Given the description of an element on the screen output the (x, y) to click on. 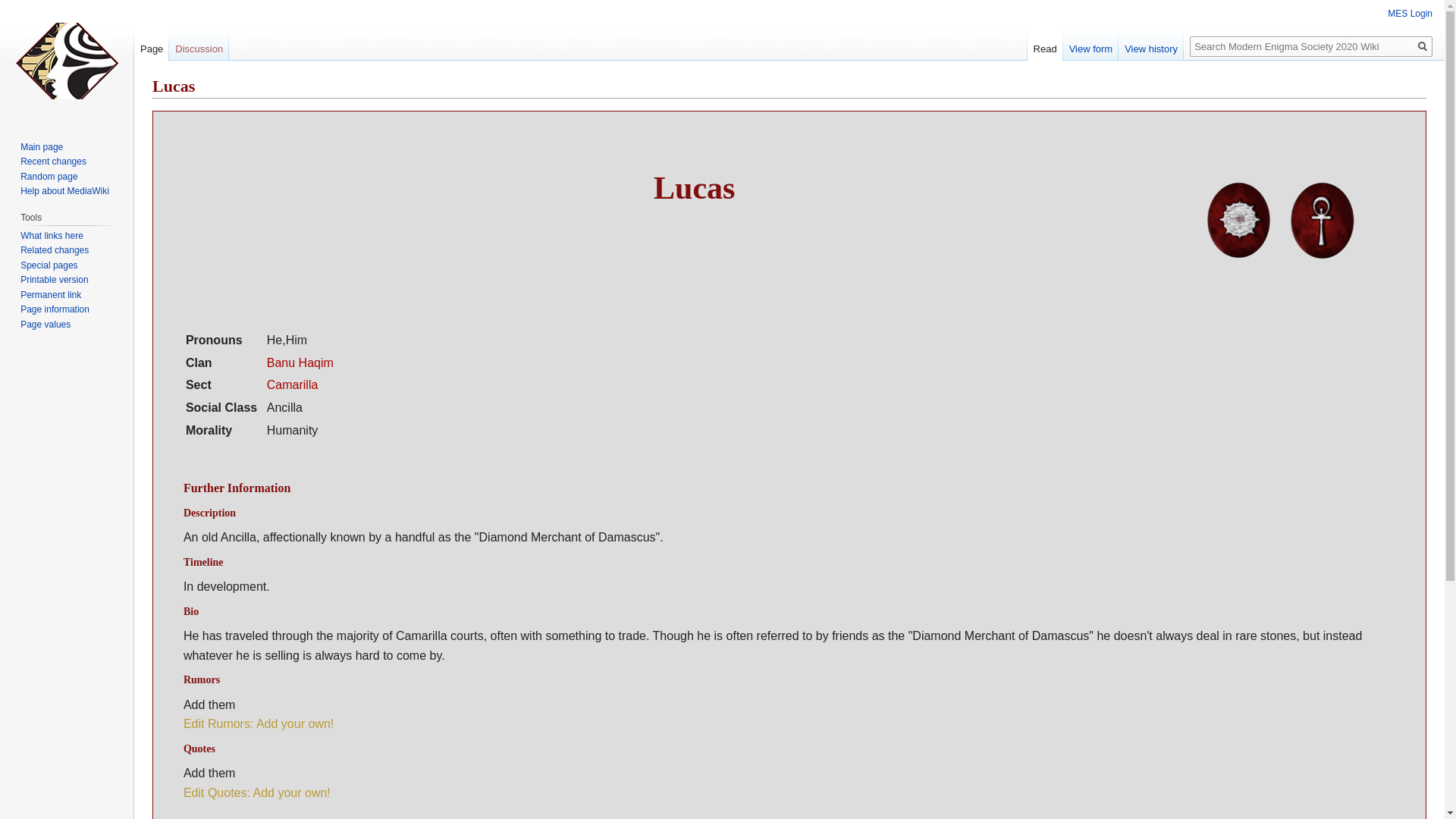
Go (1422, 46)
Recent changes (52, 161)
Discussion (198, 45)
Random page (48, 176)
Camarilla (292, 384)
Go to a page with this exact name if it exists (1422, 46)
Page (150, 45)
Edit Rumors: Add your own! (258, 723)
Main page (41, 146)
Read (1044, 45)
View form (1090, 45)
Category:Banu Haqim (299, 362)
Page values (44, 324)
Go (1422, 46)
